Given the description of an element on the screen output the (x, y) to click on. 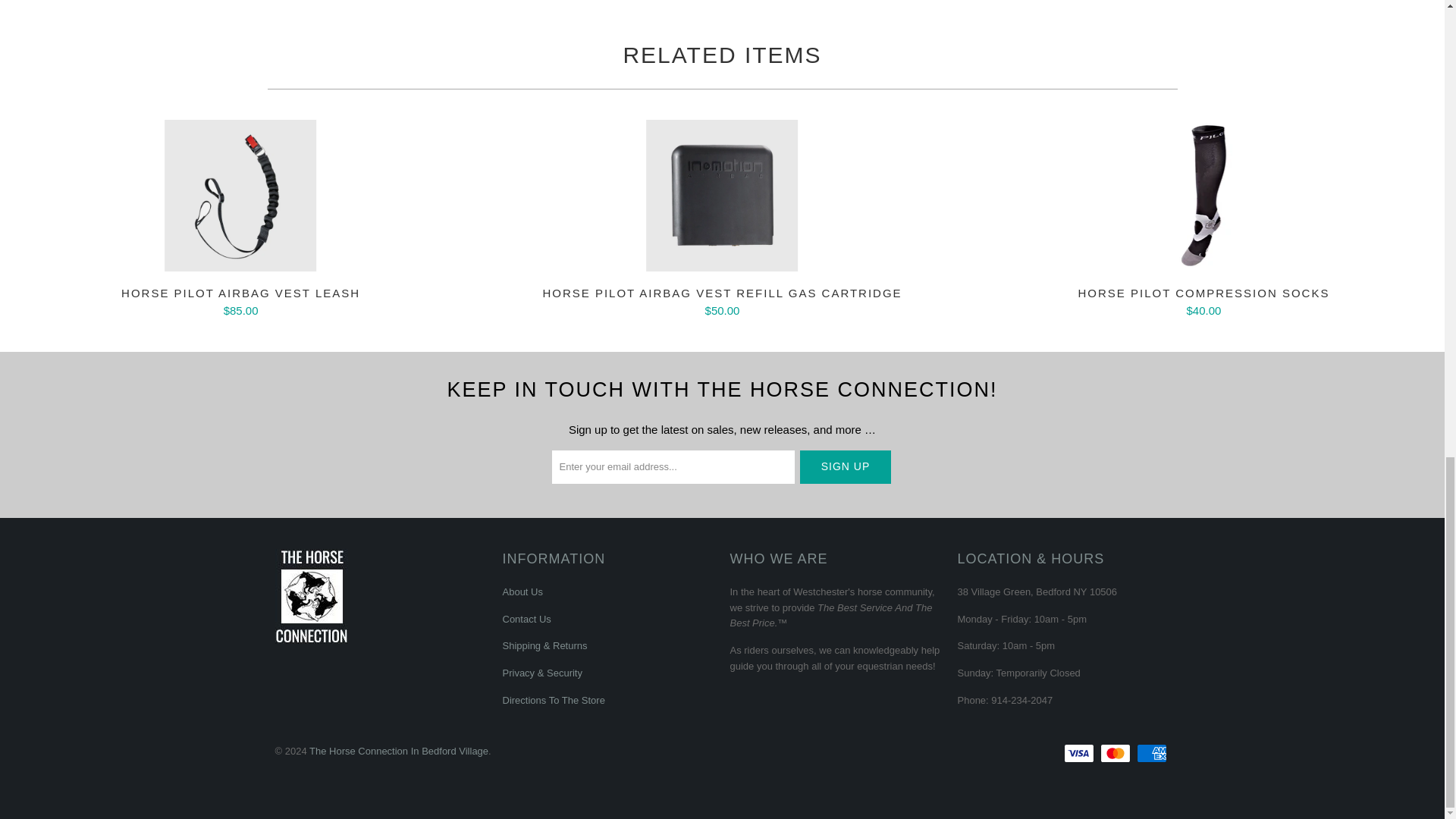
Sign Up (845, 467)
